Given the description of an element on the screen output the (x, y) to click on. 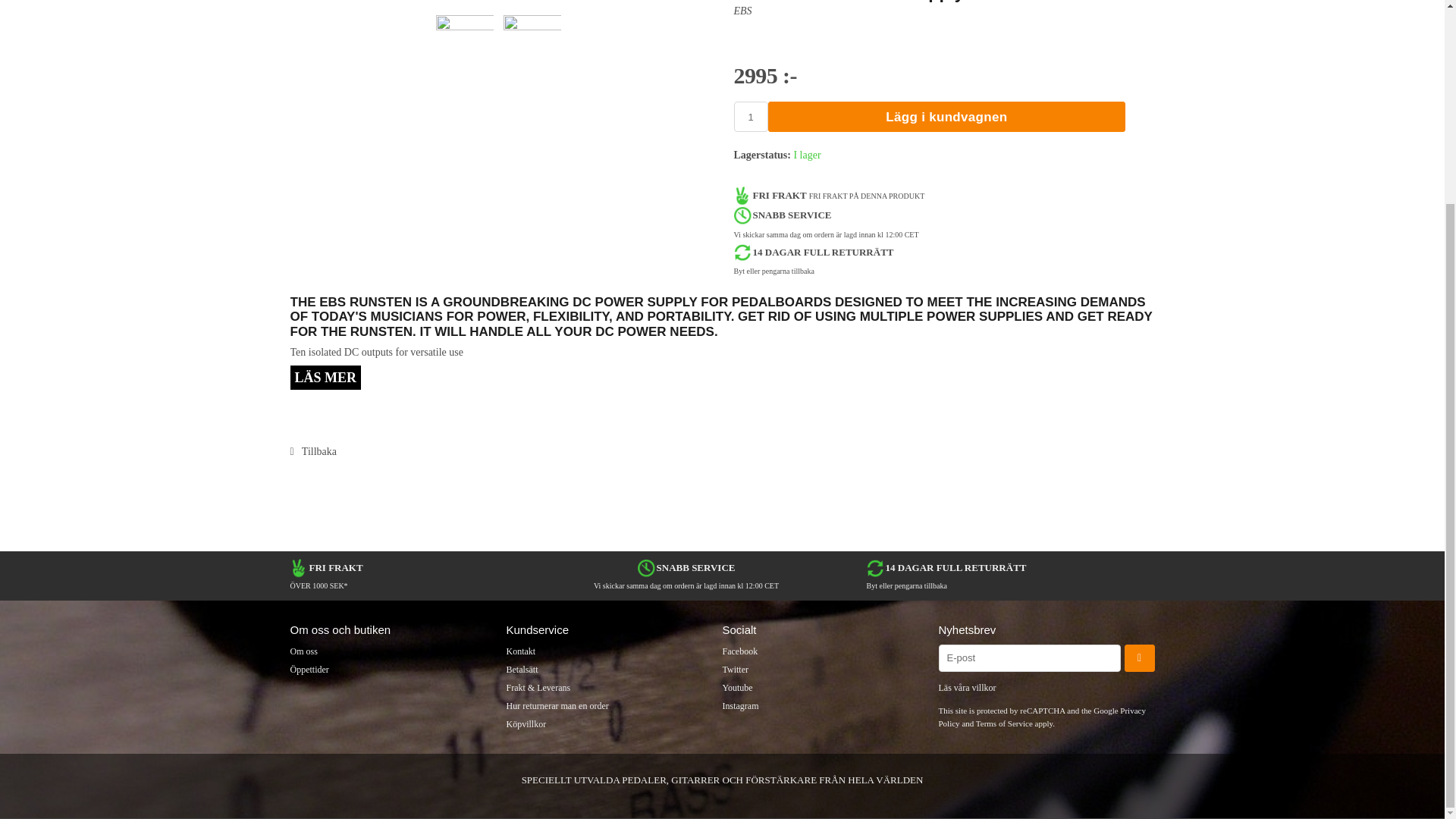
08 - 55 90 30 30 (614, 651)
1 (750, 116)
Om oss (397, 651)
Frakt (614, 687)
Retur (614, 706)
